Given the description of an element on the screen output the (x, y) to click on. 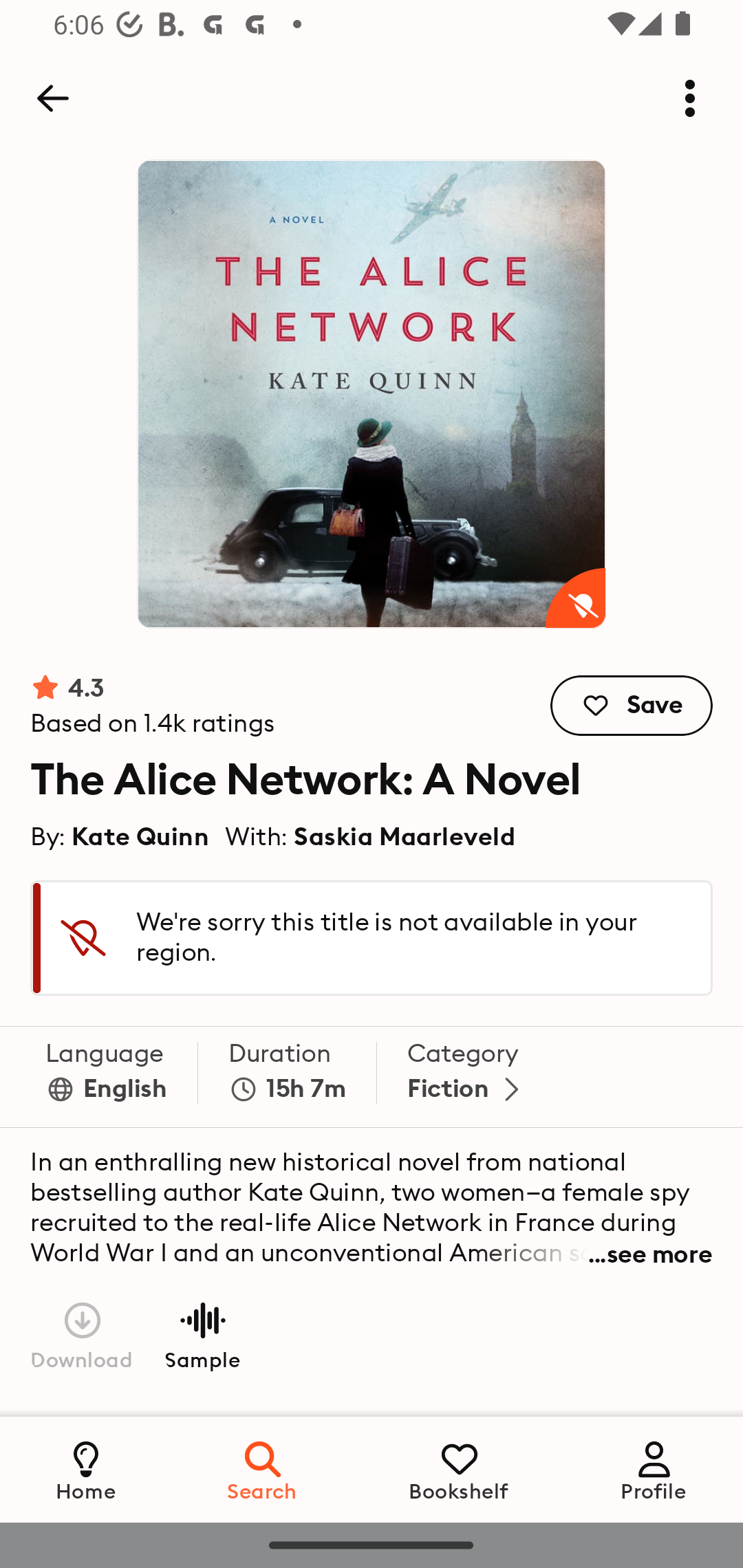
Back (52, 98)
More options (689, 98)
Rating 4.3 stars, out of 1411 ratings (152, 705)
Save Save to bookshelf (631, 705)
By: Kate Quinn (119, 835)
With: Saskia Maarleveld (370, 835)
Category Fiction (466, 1077)
Play sample (202, 1333)
Home (85, 1468)
Search (262, 1468)
Bookshelf (458, 1468)
Profile (653, 1468)
